Given the description of an element on the screen output the (x, y) to click on. 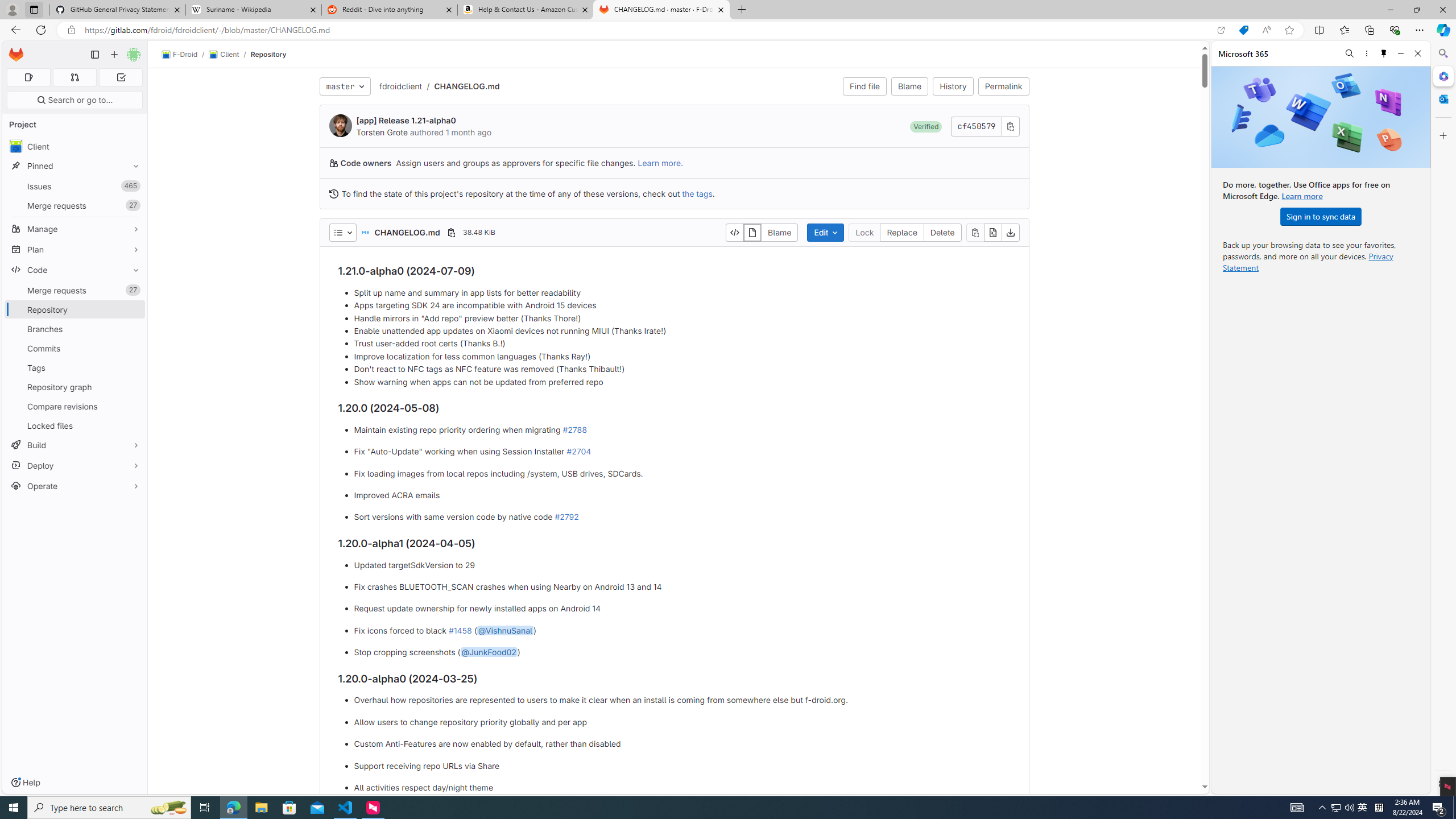
Reddit - Dive into anything (390, 9)
Tags (74, 367)
Torsten Grote's avatar (340, 125)
Sort versions with same version code by native code #2792 (681, 517)
#2704 (578, 451)
Class: s16 gl-icon gl-button-icon  (1010, 126)
@JunkFood02 (488, 652)
#2788 (574, 429)
Build (74, 444)
To-Do list 0 (120, 76)
Suriname - Wikipedia (253, 9)
Merge requests 27 (74, 289)
Operate (74, 485)
